Given the description of an element on the screen output the (x, y) to click on. 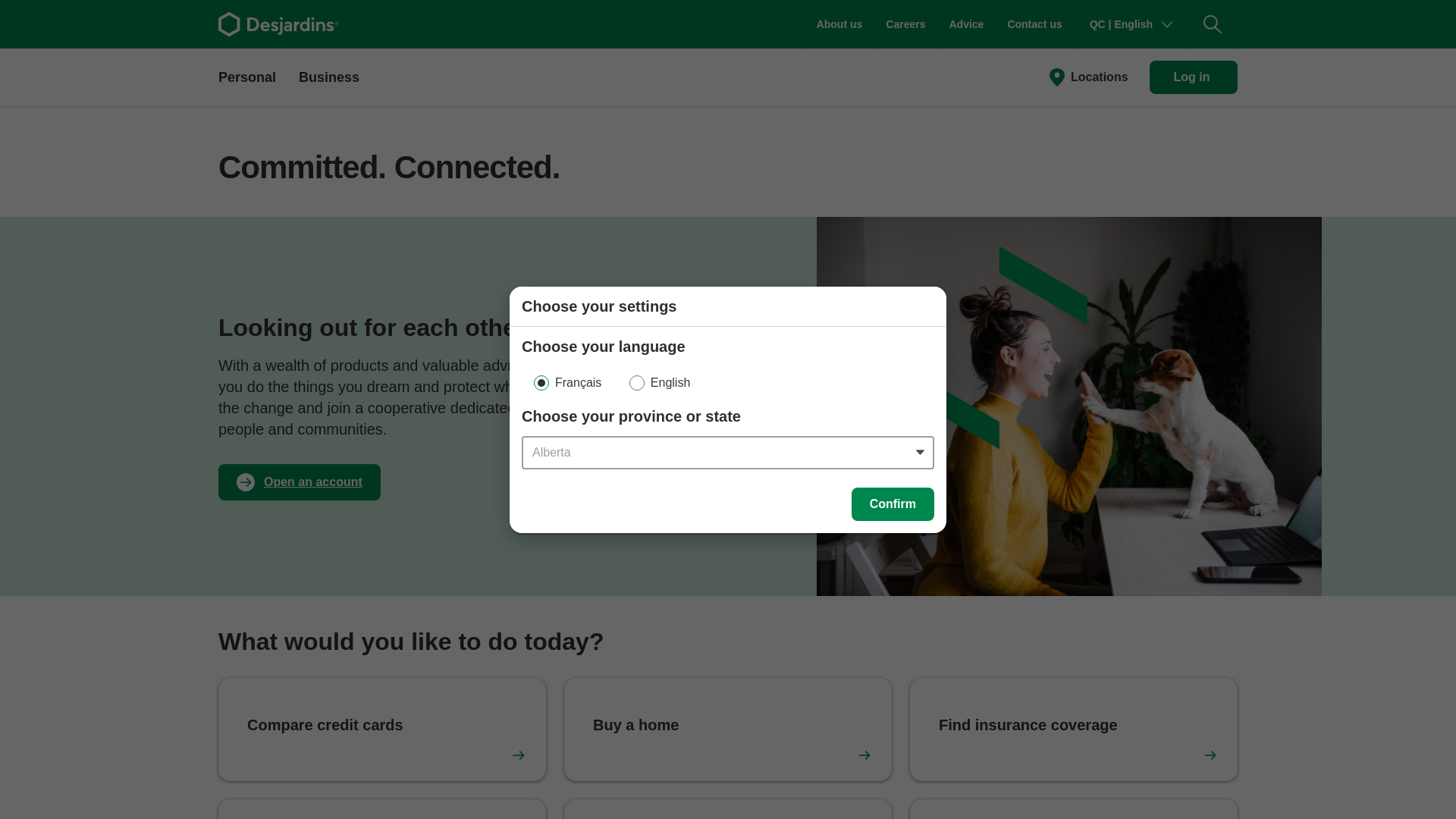
Contact us (1034, 24)
Search (1212, 24)
Personal (247, 76)
About us (840, 24)
Business (328, 76)
Careers (905, 24)
Advice (965, 24)
